Given the description of an element on the screen output the (x, y) to click on. 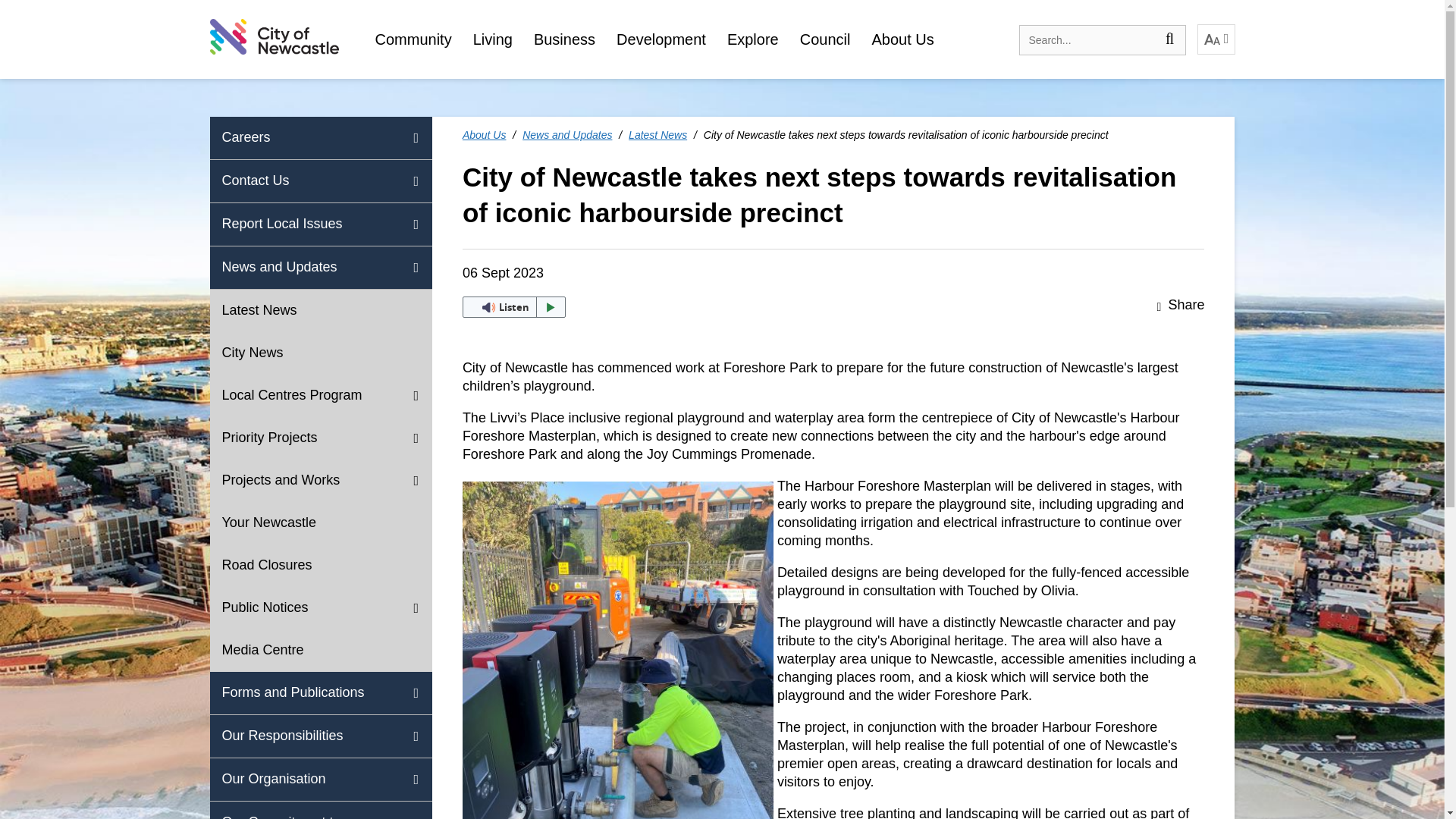
City of newcastle (273, 36)
Listen to this page using ReadSpeaker webReader (514, 306)
Community (412, 39)
